Given the description of an element on the screen output the (x, y) to click on. 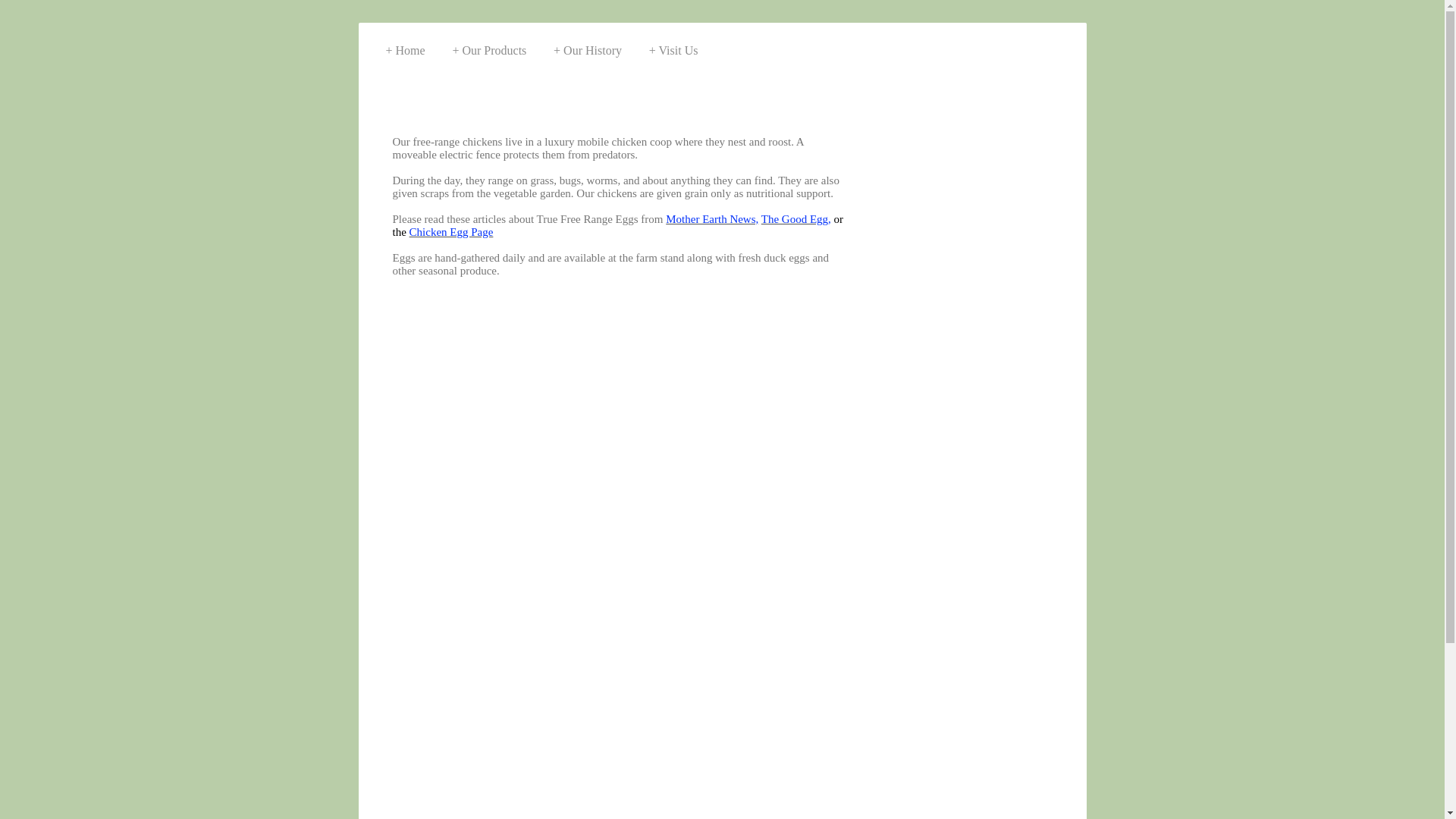
Home (404, 45)
The Good Egg (794, 218)
Our Products (488, 45)
Visit Us (673, 45)
Chicken Egg Page (451, 232)
Our History (587, 45)
Mother Earth News, (711, 218)
